Given the description of an element on the screen output the (x, y) to click on. 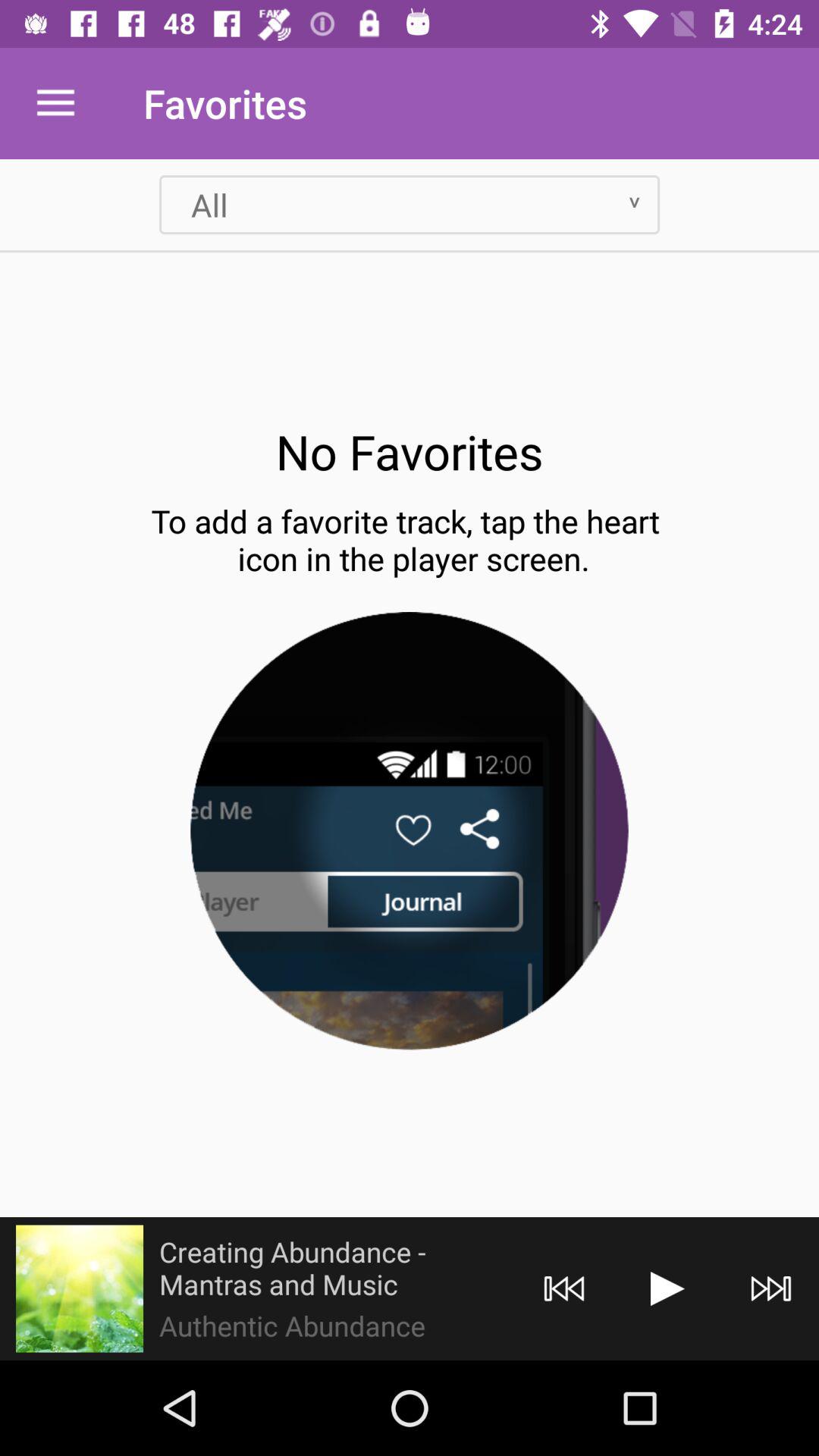
song logo (79, 1288)
